Given the description of an element on the screen output the (x, y) to click on. 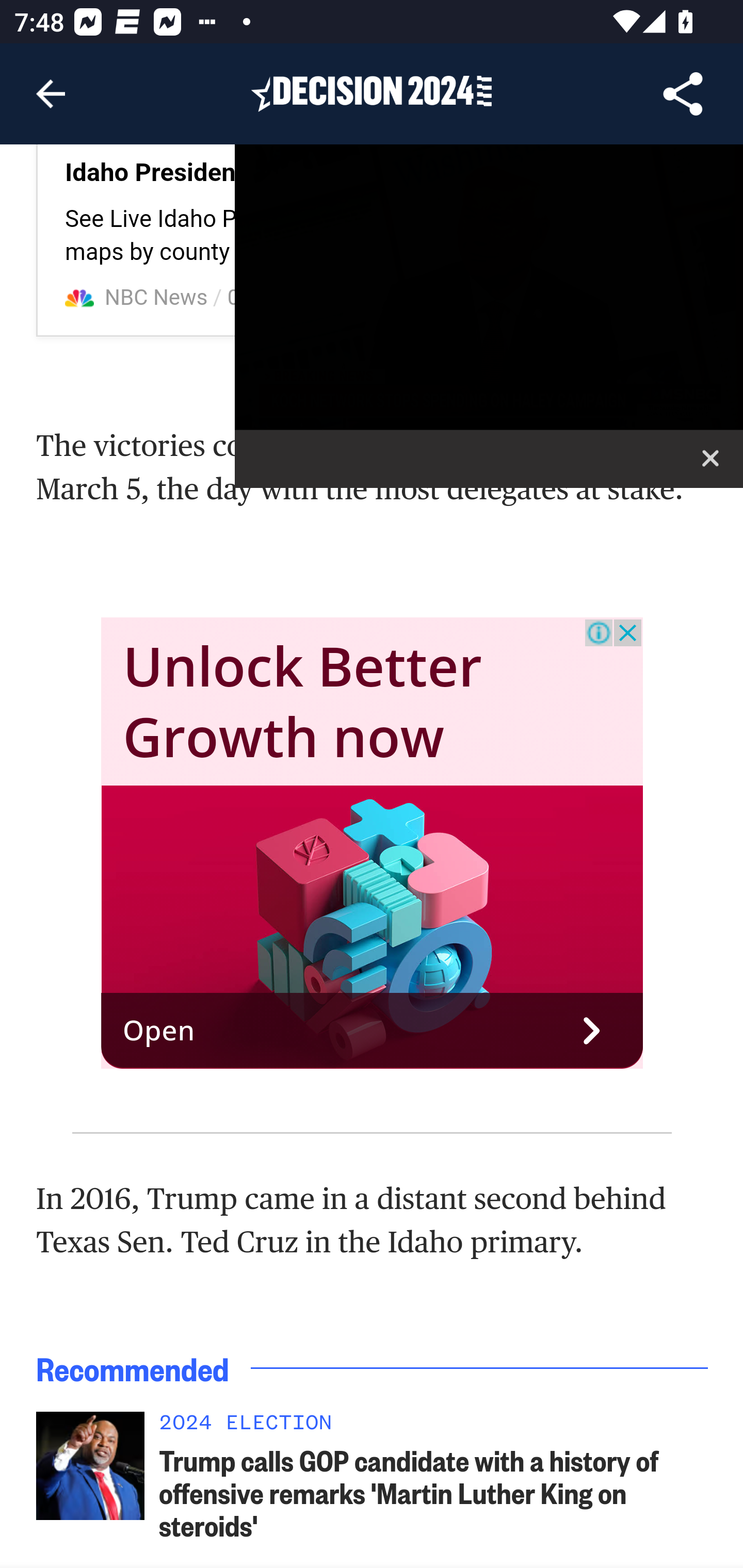
Navigate up (50, 93)
Share Article, button (683, 94)
Header, Decision 2024 (371, 93)
NBC News (156, 298)
Unlock Better Growth now Unlock Better Growth now (302, 701)
Open (372, 1031)
2024 ELECTION (434, 1427)
